Given the description of an element on the screen output the (x, y) to click on. 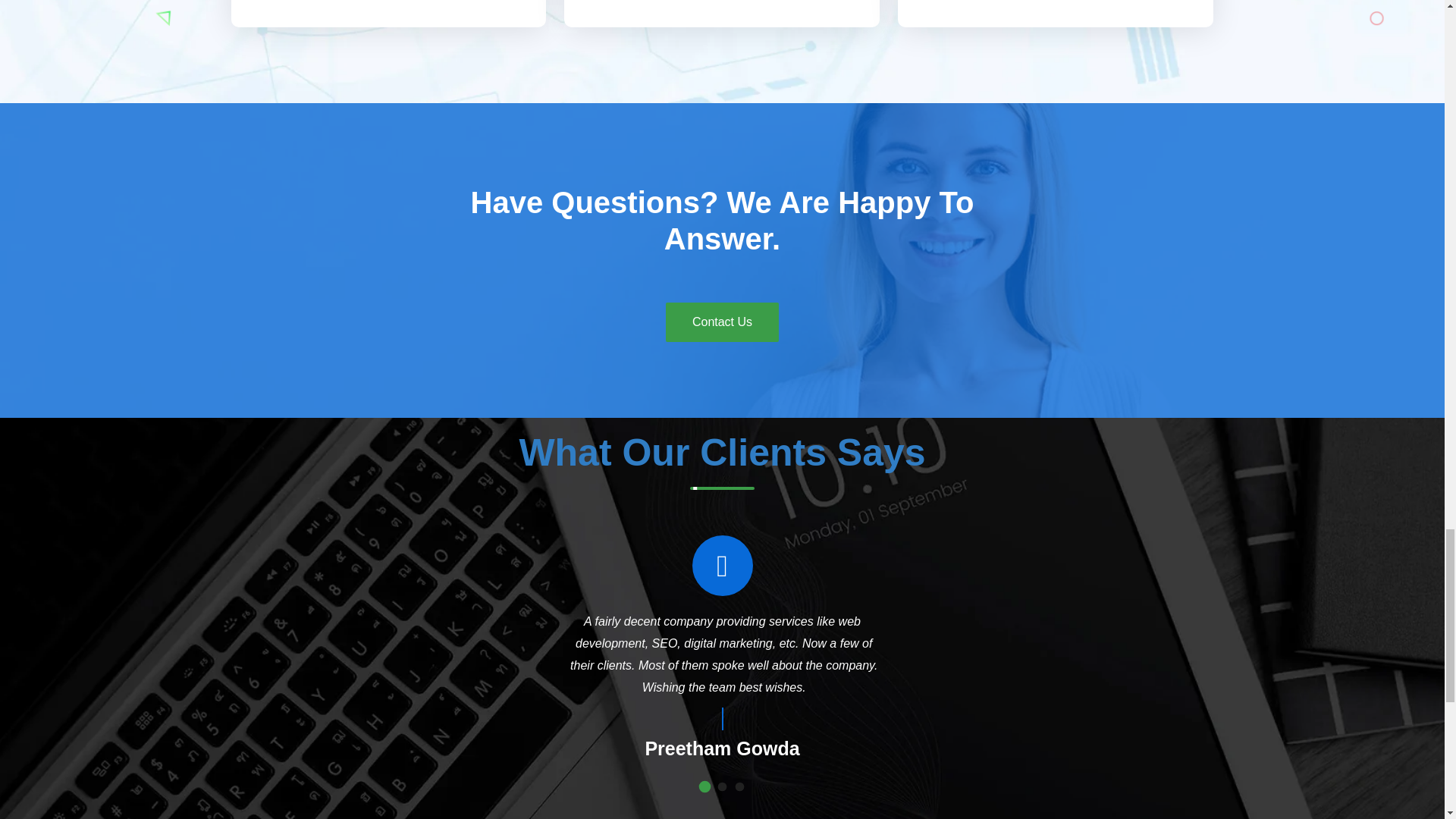
Read More (389, 2)
